Given the description of an element on the screen output the (x, y) to click on. 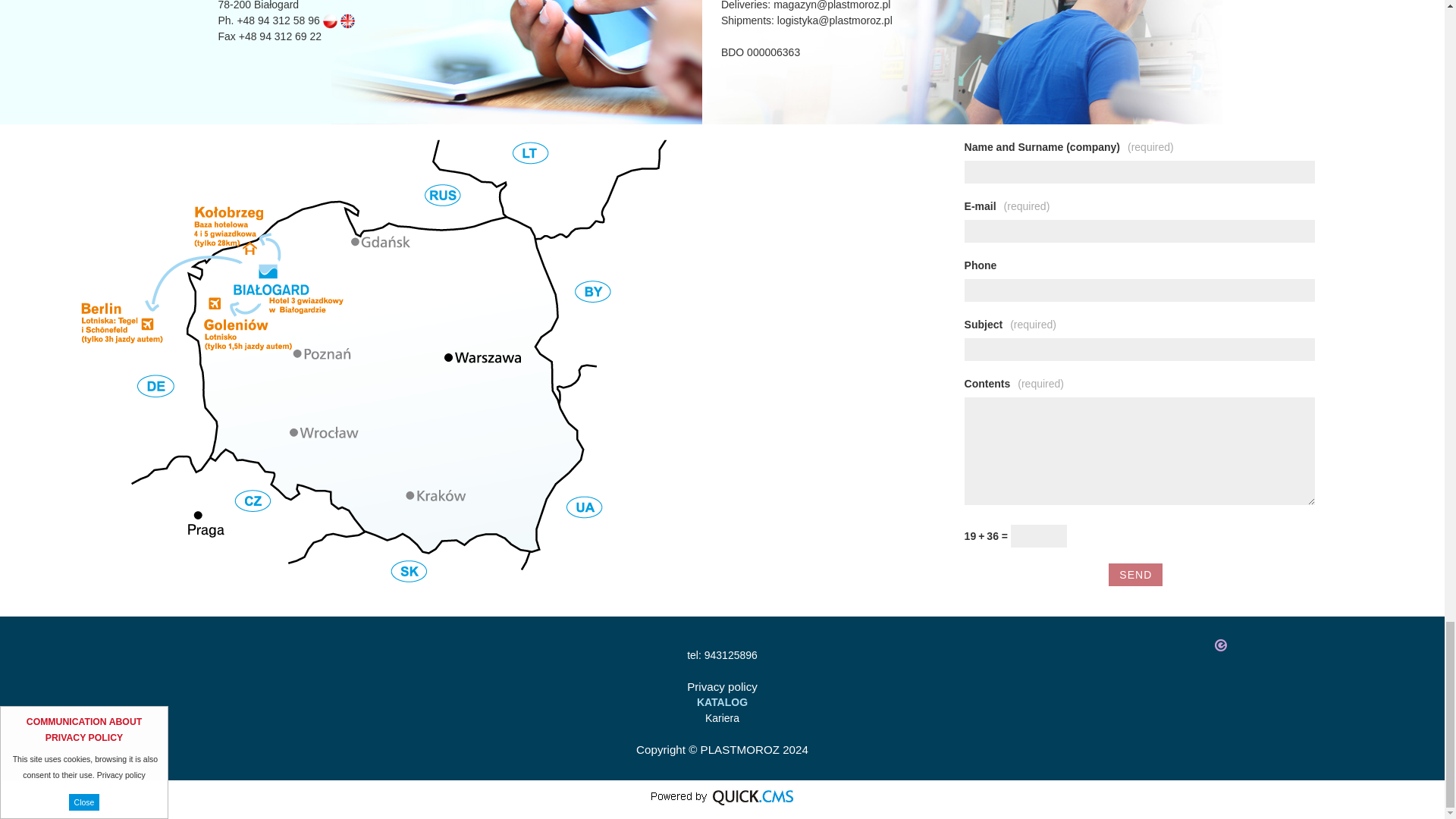
send (1134, 574)
